Given the description of an element on the screen output the (x, y) to click on. 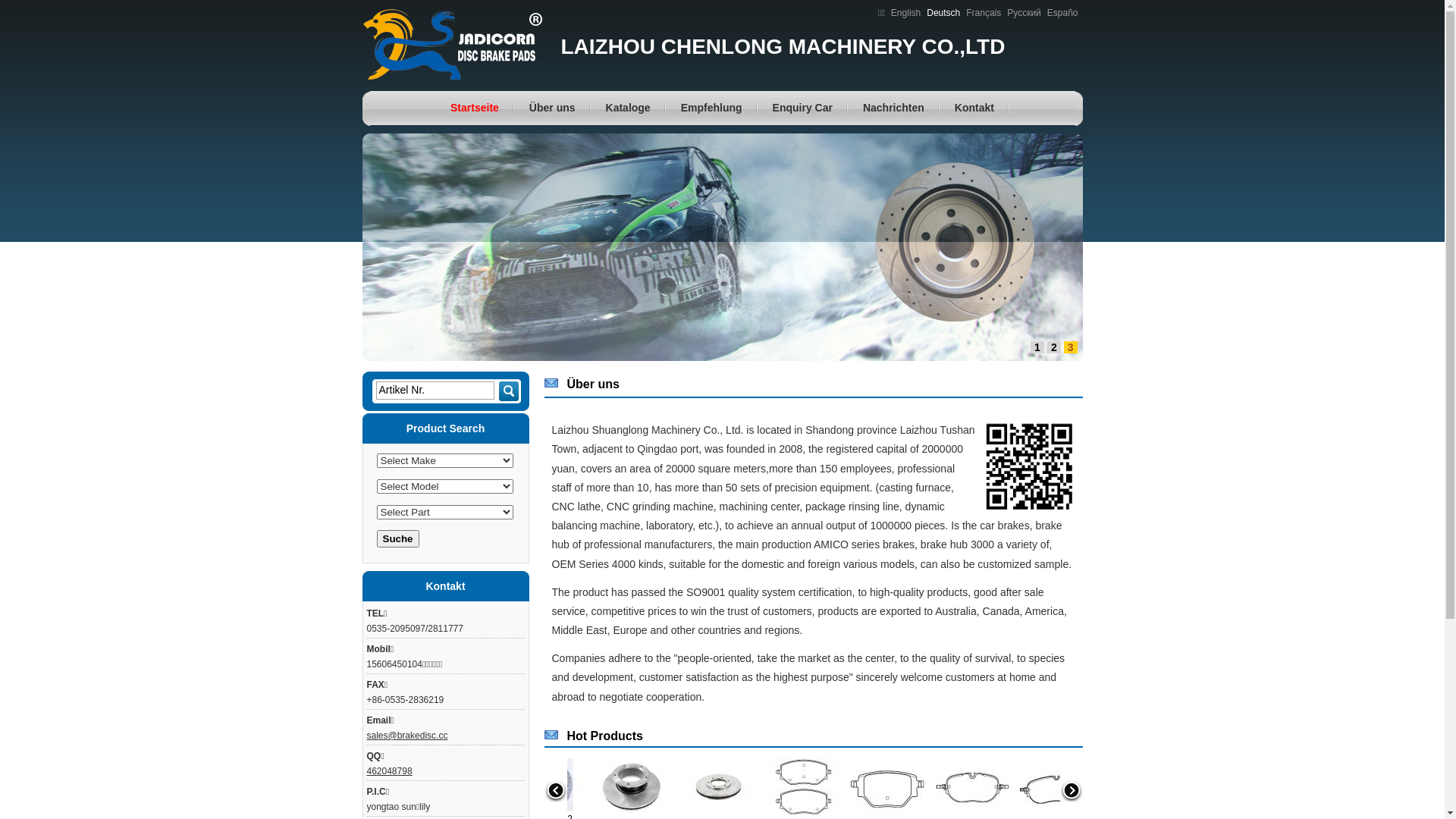
3 Element type: text (1070, 347)
English Element type: text (905, 12)
2 Element type: text (1053, 347)
Deutsch Element type: text (943, 12)
Artikel Nr. Element type: hover (435, 390)
Suche Element type: text (509, 396)
Suche Element type: text (397, 538)
Enquiry Car Element type: text (802, 108)
462048798 Element type: text (389, 770)
Empfehlung Element type: text (711, 108)
1 Element type: text (1037, 347)
sales@brakedisc.cc Element type: text (407, 735)
Kataloge Element type: text (627, 108)
Startseite Element type: text (474, 108)
Kontakt Element type: text (974, 108)
Nachrichten Element type: text (893, 108)
